Given the description of an element on the screen output the (x, y) to click on. 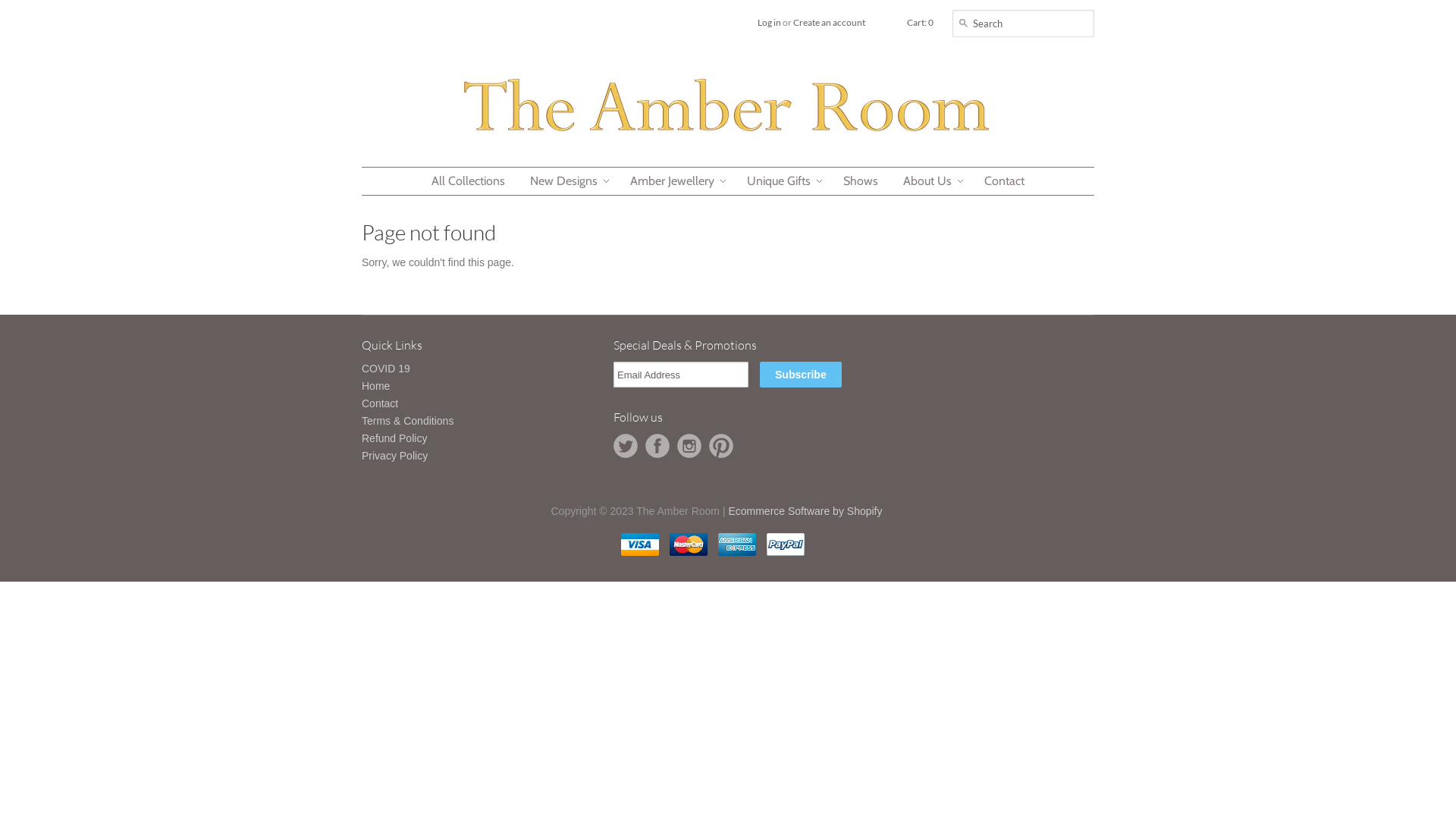
Pinterest Element type: text (721, 445)
COVID 19 Element type: text (385, 368)
Facebook Element type: text (657, 445)
Home Element type: text (375, 385)
Amber Jewellery Element type: text (671, 180)
Instagram Element type: text (689, 445)
Refund Policy Element type: text (393, 438)
Log in Element type: text (769, 22)
About Us Element type: text (927, 180)
Subscribe Element type: text (800, 374)
All Collections Element type: text (468, 180)
Terms & Conditions Element type: text (407, 420)
Ecommerce Software by Shopify Element type: text (804, 511)
New Designs Element type: text (563, 180)
Unique Gifts Element type: text (778, 180)
Shows Element type: text (860, 180)
Contact Element type: text (379, 403)
Cart: 0 Element type: text (919, 22)
Contact Element type: text (1003, 180)
Privacy Policy Element type: text (394, 455)
Create an account Element type: text (829, 22)
Twitter Element type: text (625, 445)
